Given the description of an element on the screen output the (x, y) to click on. 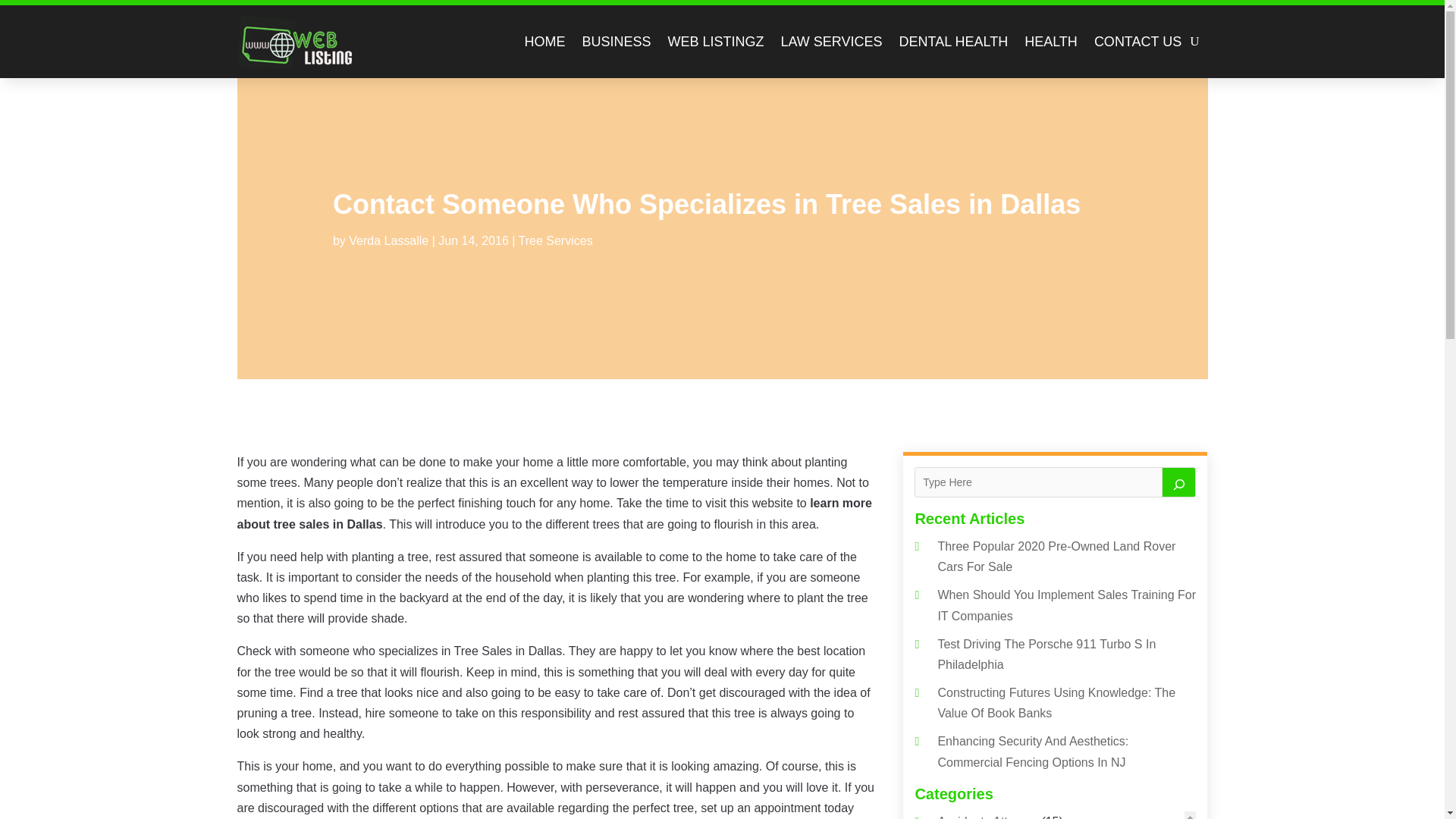
When Should You Implement Sales Training For IT Companies (1066, 604)
DENTAL HEALTH (952, 41)
BUSINESS (615, 41)
Verda Lassalle (388, 240)
HEALTH (1051, 41)
WEB LISTINGZ (714, 41)
Tree Services (555, 240)
Accidents Attorney (987, 816)
Three Popular 2020 Pre-Owned Land Rover Cars For Sale (1055, 556)
